Given the description of an element on the screen output the (x, y) to click on. 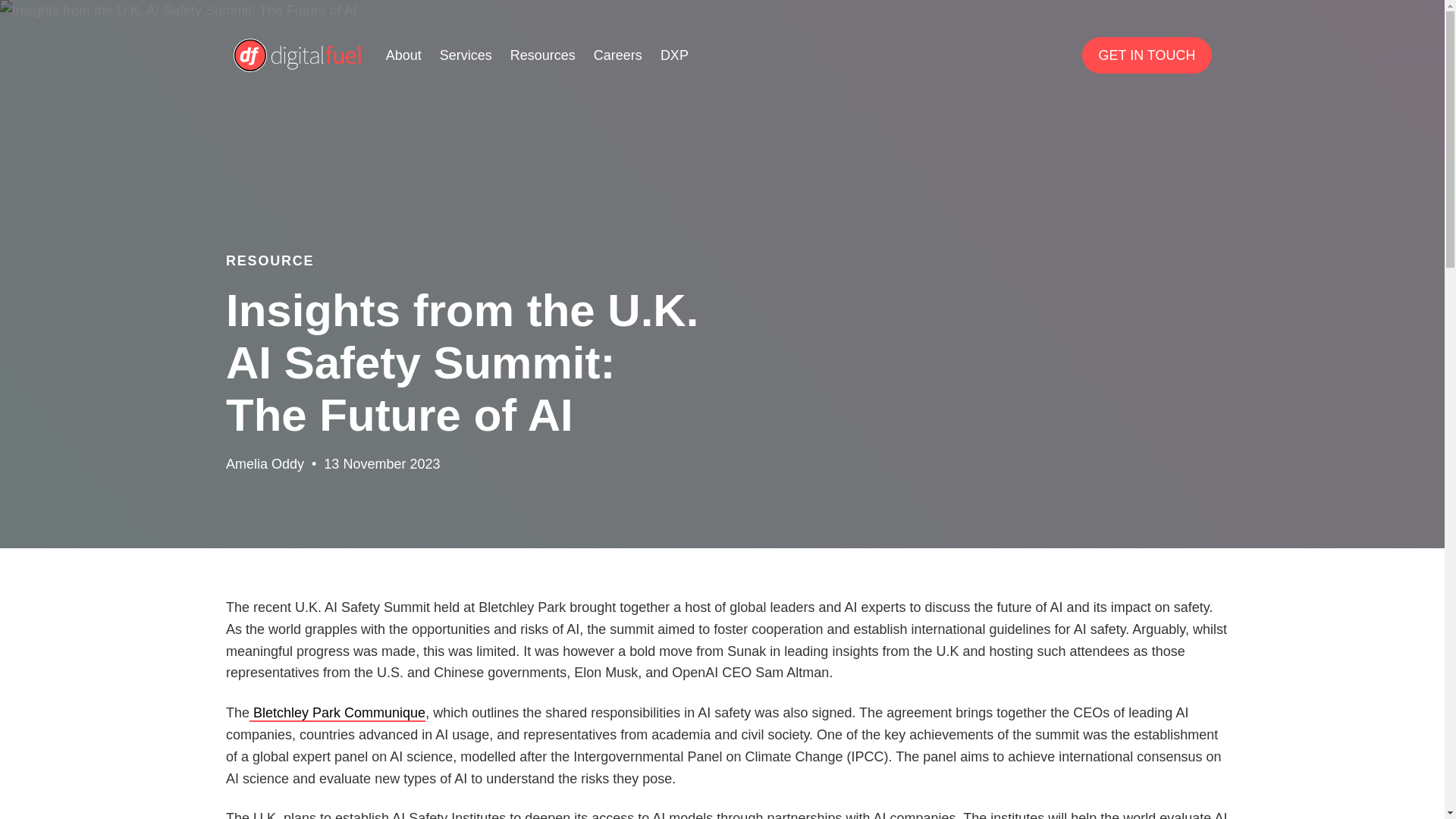
GET IN TOUCH (1146, 54)
About (403, 55)
Resources (543, 55)
Careers (618, 55)
DXP (674, 55)
Bletchley Park Communique (336, 712)
Services (465, 55)
